Given the description of an element on the screen output the (x, y) to click on. 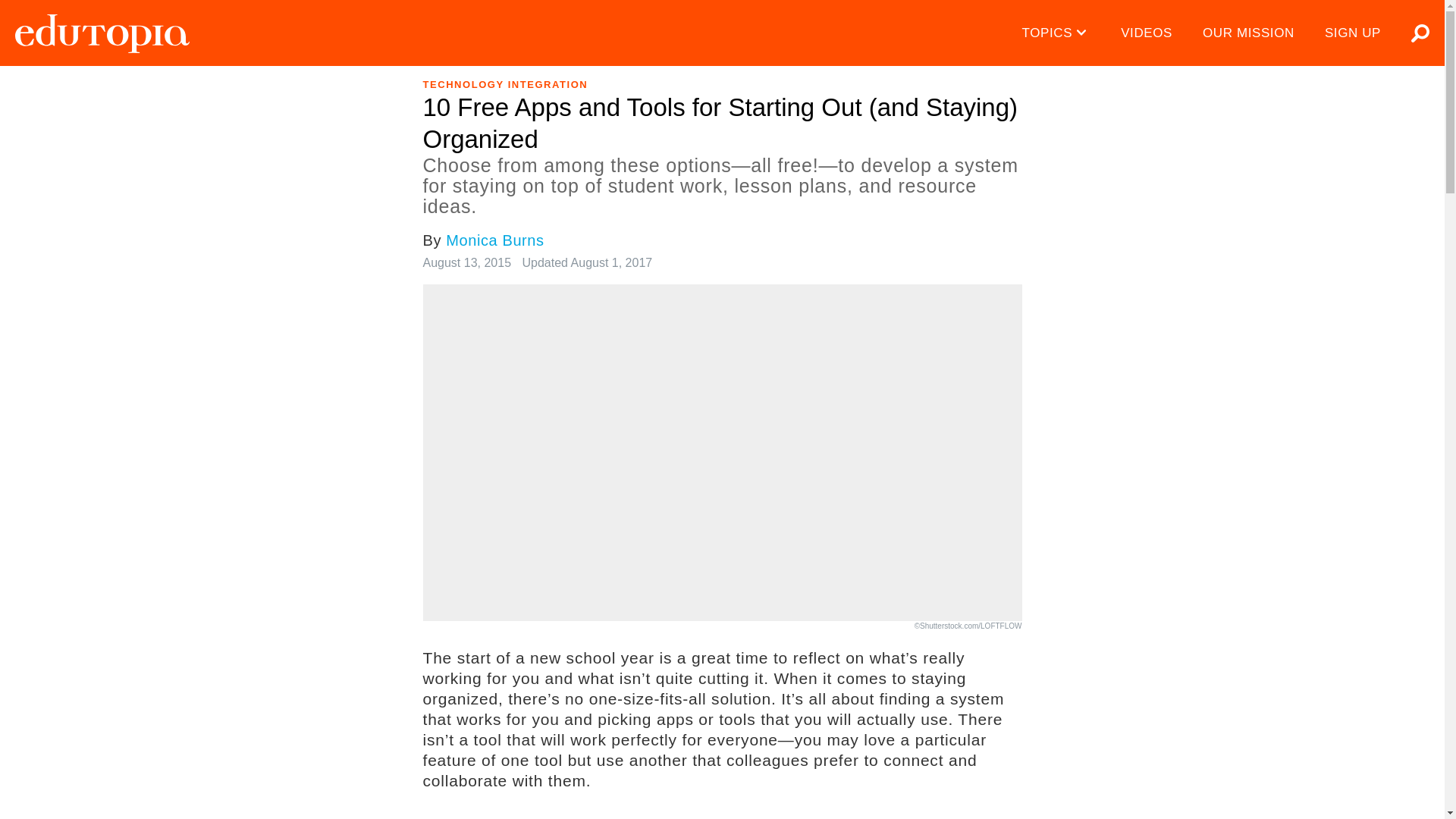
TOPICS (1056, 33)
OUR MISSION (1248, 33)
Edutopia (101, 33)
Edutopia (101, 33)
SIGN UP (1352, 33)
Monica Burns (494, 239)
VIDEOS (1146, 33)
